Given the description of an element on the screen output the (x, y) to click on. 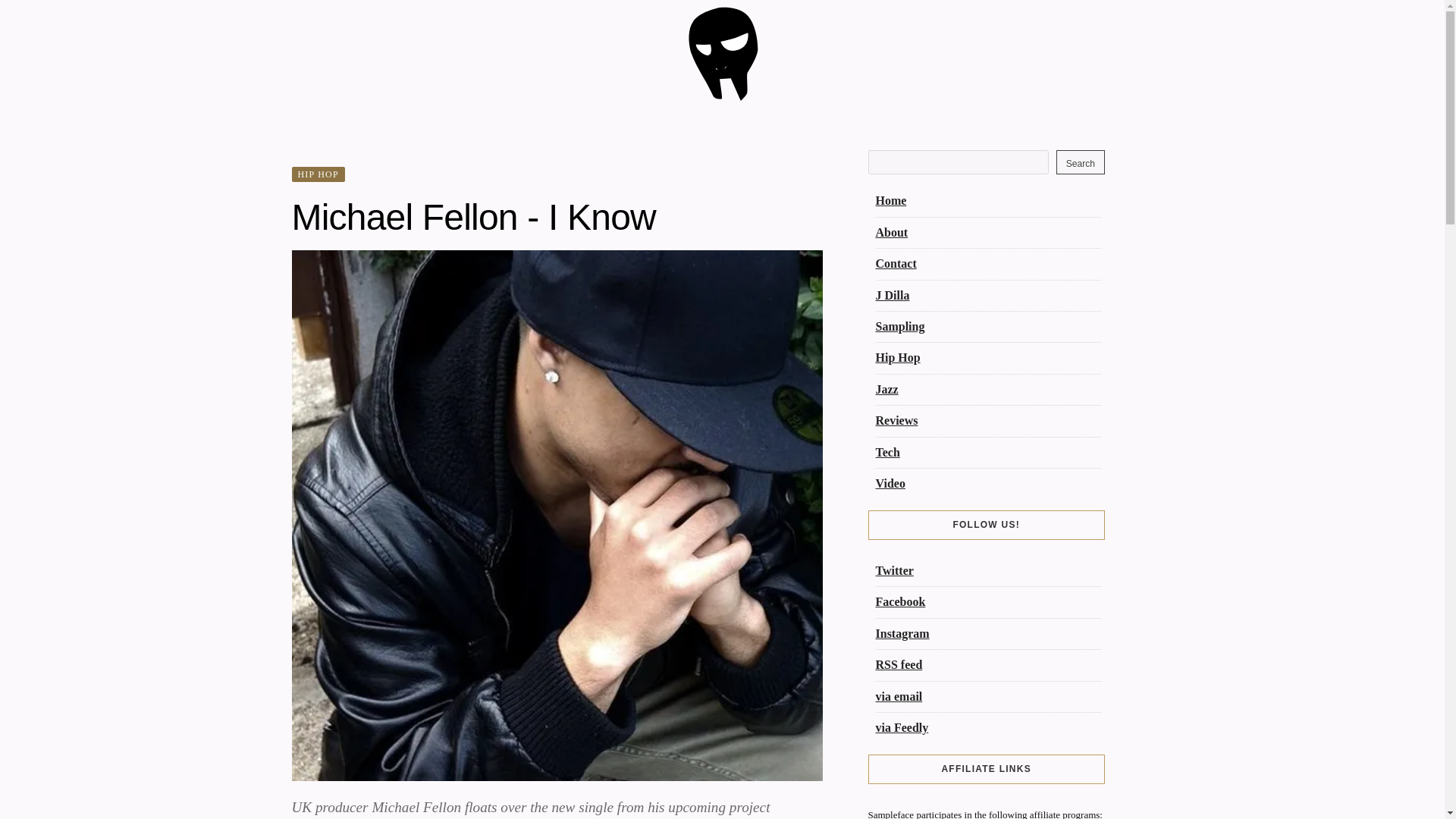
Instagram (901, 633)
Hip Hop (897, 357)
Home (890, 200)
Video (889, 482)
Reviews (896, 420)
RSS feed (898, 664)
HIP HOP (317, 174)
Twitter (893, 570)
Sampling (899, 326)
Sampleface logo A black mask. (722, 97)
